Given the description of an element on the screen output the (x, y) to click on. 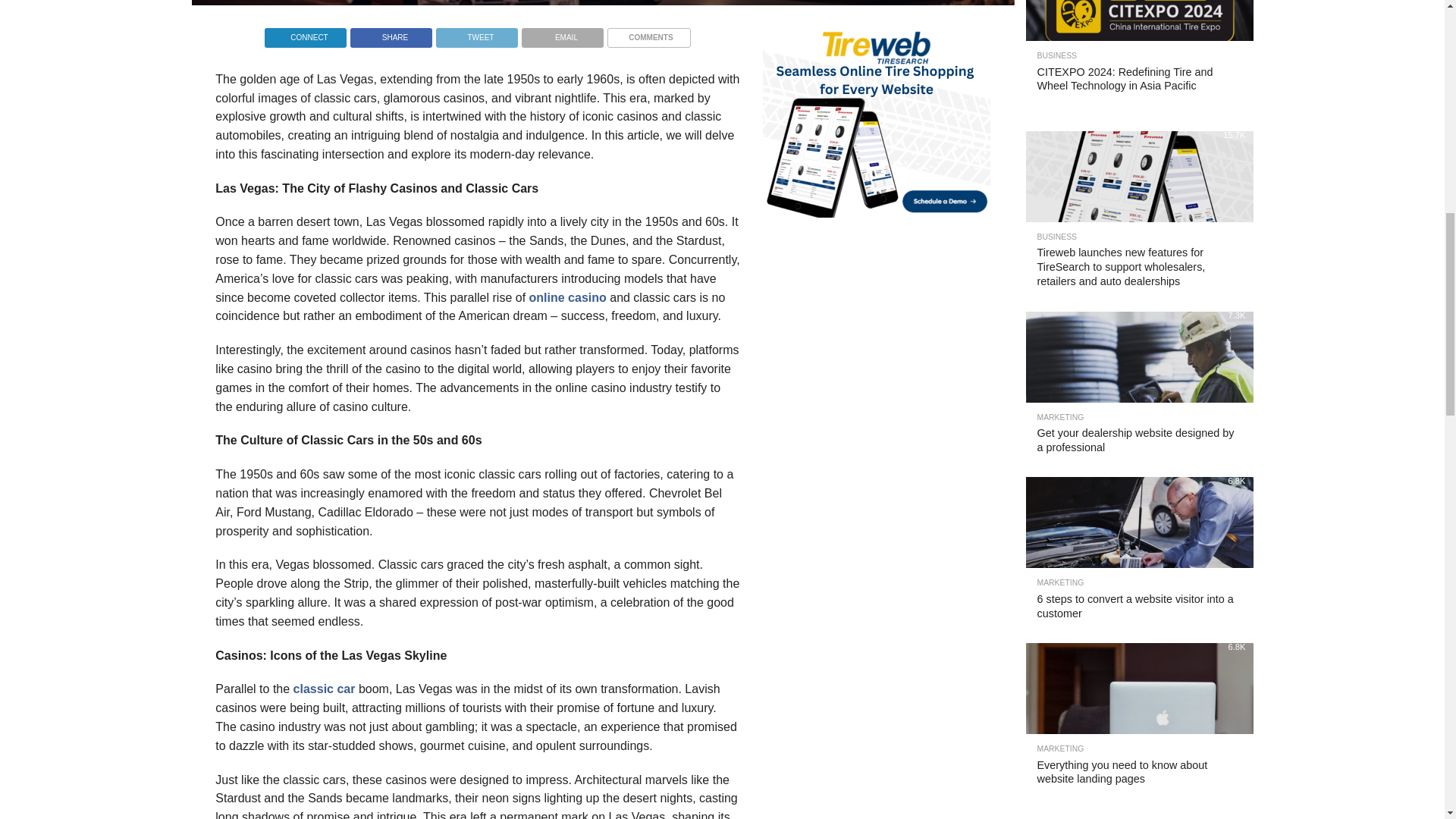
Share on Facebook (390, 33)
Tweet This Post (476, 33)
Share on LinkedIn (305, 33)
